Given the description of an element on the screen output the (x, y) to click on. 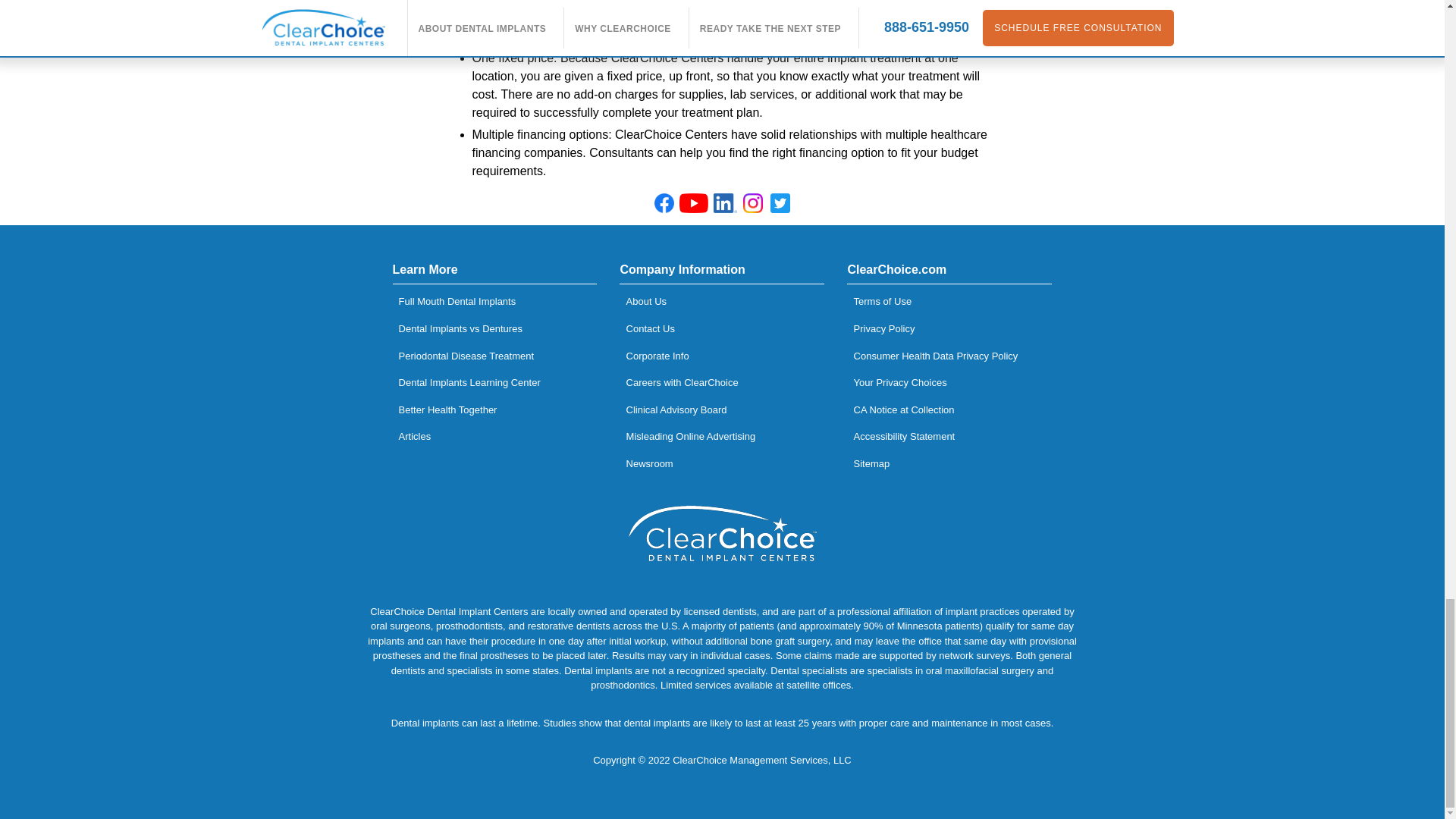
Dental Implants vs Dentures (494, 329)
Facebook (664, 202)
Full Mouth Dental Implants (494, 301)
LinkedIn (724, 202)
YouTube (694, 204)
Periodontal Disease Treatment (494, 356)
Twitter (780, 202)
Instagram (753, 202)
